Given the description of an element on the screen output the (x, y) to click on. 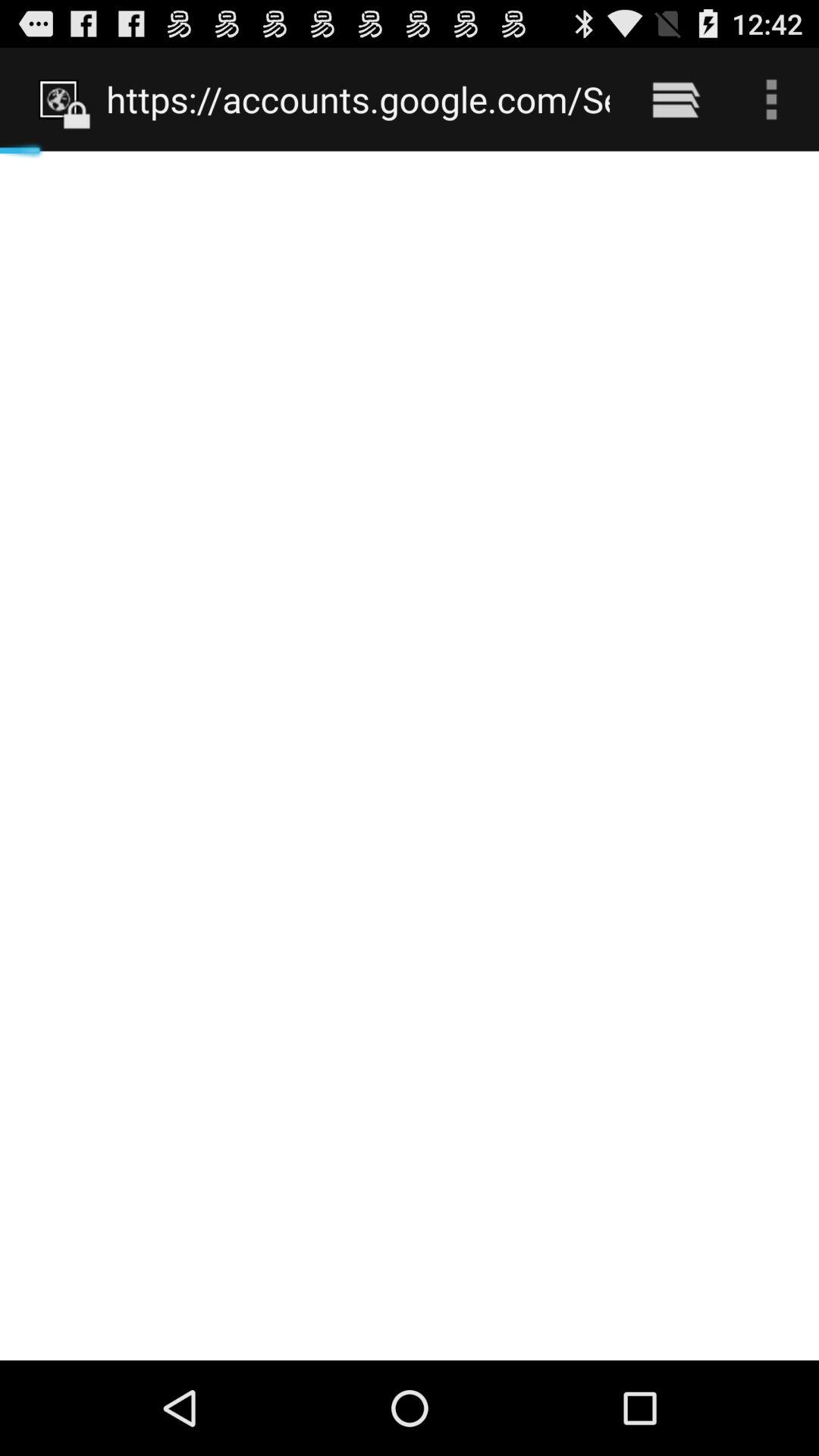
turn on the item to the right of https accounts google item (675, 99)
